Given the description of an element on the screen output the (x, y) to click on. 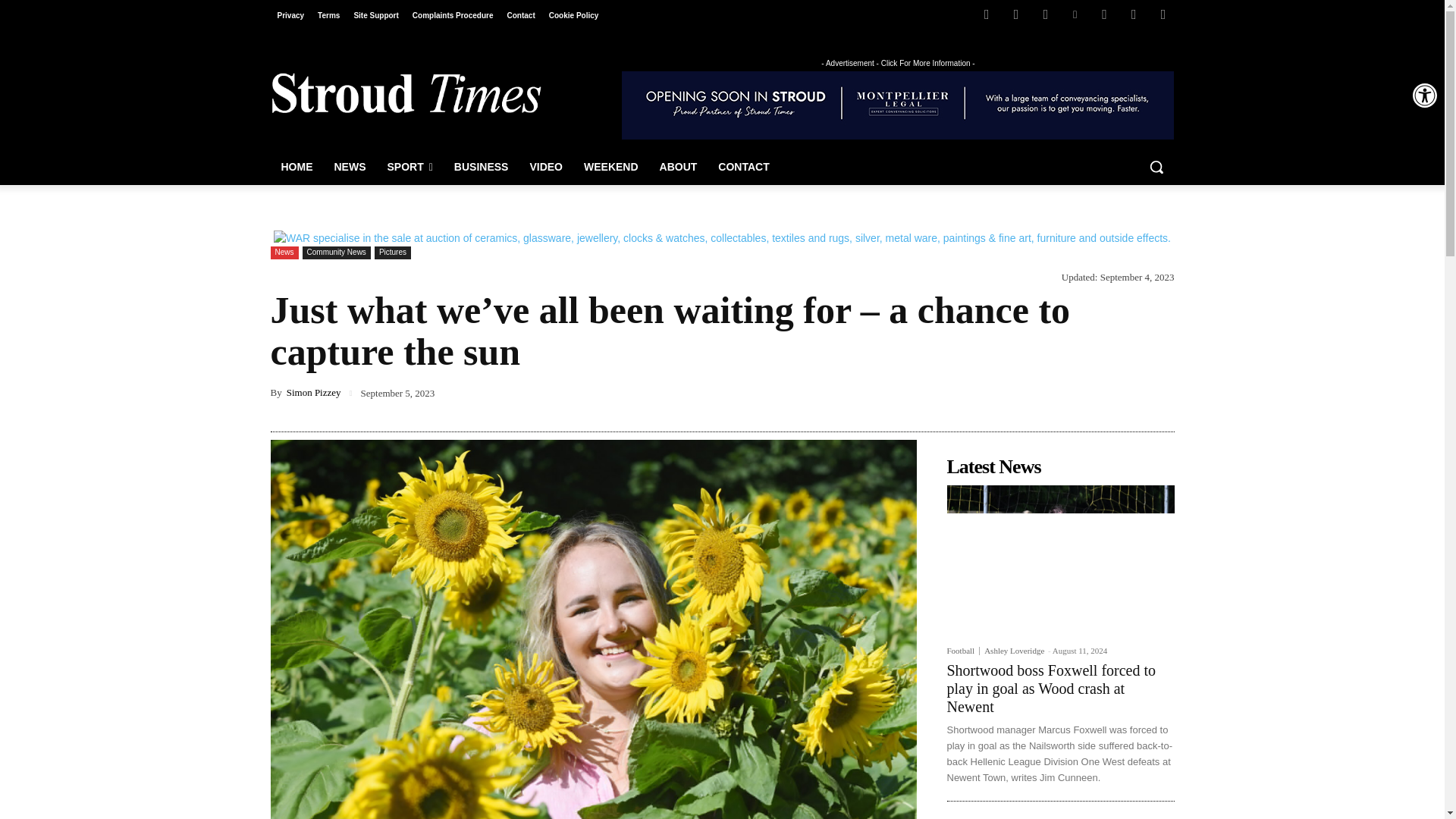
Flipboard (1016, 14)
Facebook (986, 14)
Terms (328, 15)
Accessibility Tools (1424, 95)
Privacy (290, 15)
